Given the description of an element on the screen output the (x, y) to click on. 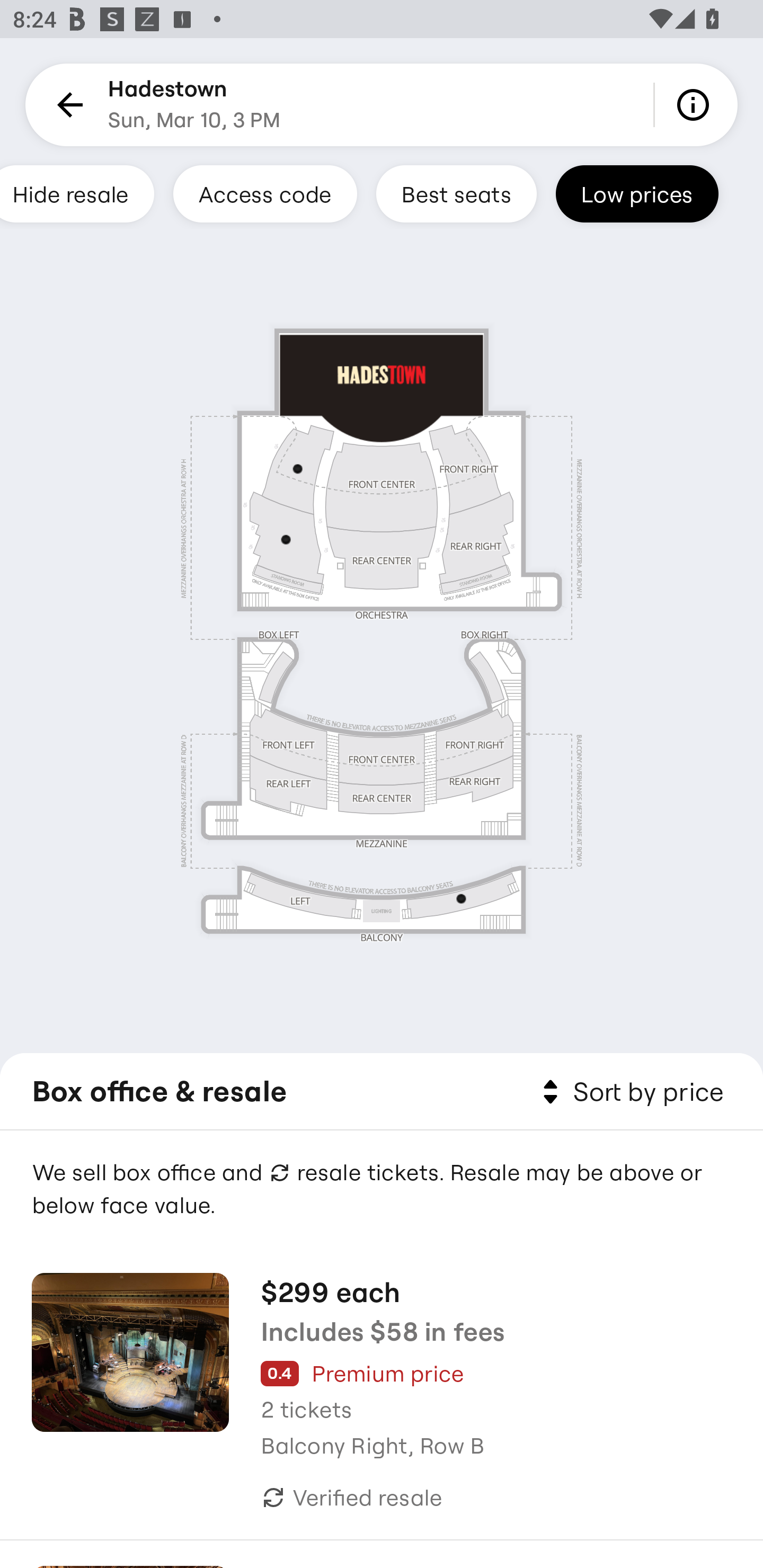
Back (66, 104)
Hadestown Sun, Mar 10, 3 PM (194, 104)
Info (695, 104)
Hide resale (77, 193)
Access code (265, 193)
Best seats (456, 193)
Low prices (636, 193)
Sort by price (629, 1091)
